Given the description of an element on the screen output the (x, y) to click on. 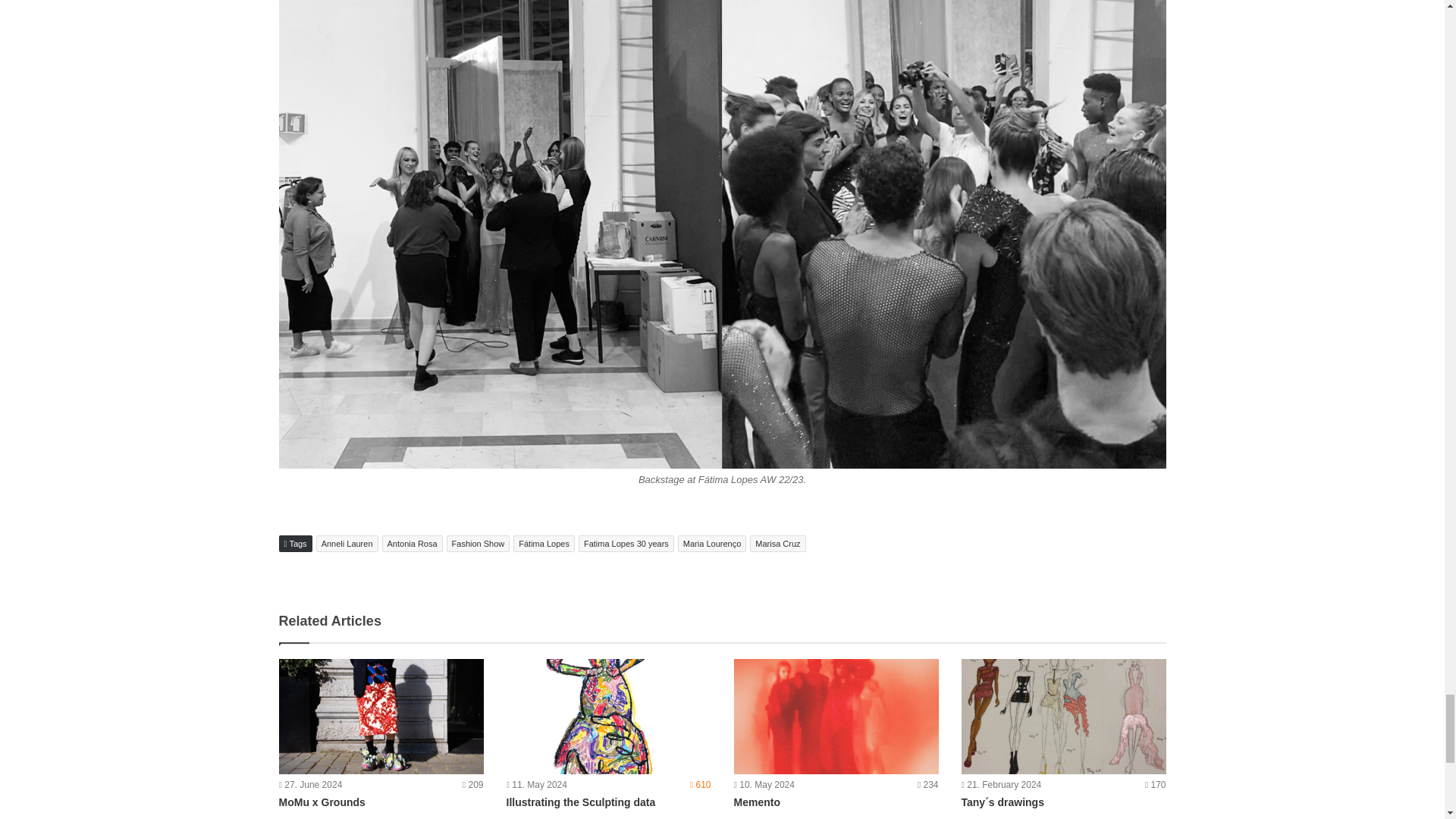
MoMu x Grounds (322, 802)
Fashion Show (478, 543)
MoMu x Grounds (381, 715)
Anneli Lauren (346, 543)
Fatima Lopes 30 years (626, 543)
Antonia Rosa (411, 543)
Illustrating the Sculpting data (608, 715)
Memento (756, 802)
Memento (836, 715)
Illustrating the Sculpting data (581, 802)
